Given the description of an element on the screen output the (x, y) to click on. 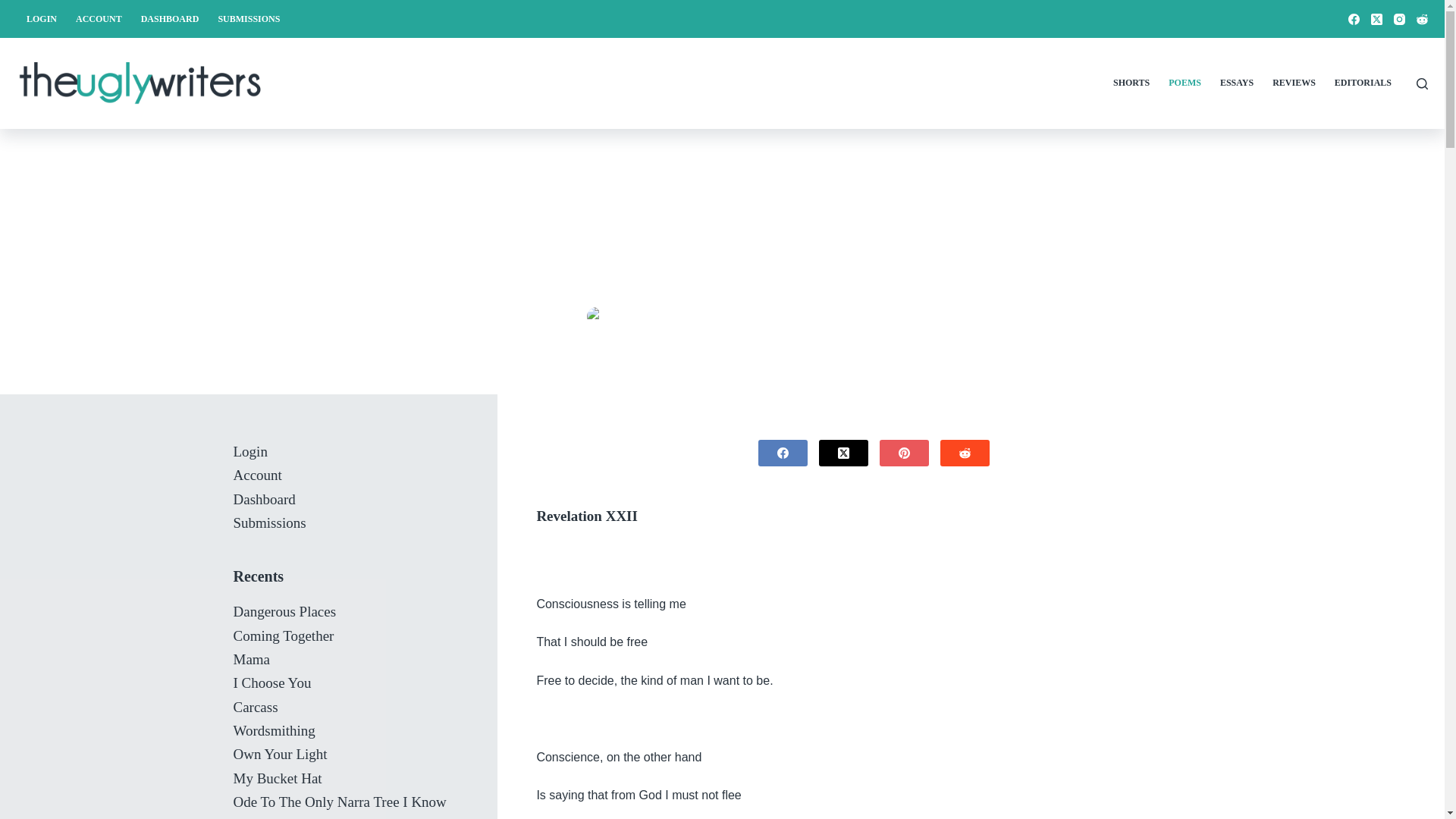
Revelation XXII (722, 213)
Posts by Ryan Paul S. Balagtas (666, 317)
RYAN PAUL S. BALAGTAS (666, 317)
ACCOUNT (99, 18)
POEMS (841, 317)
SUBMISSIONS (248, 18)
DASHBOARD (169, 18)
LOGIN (40, 18)
Skip to content (15, 7)
